Given the description of an element on the screen output the (x, y) to click on. 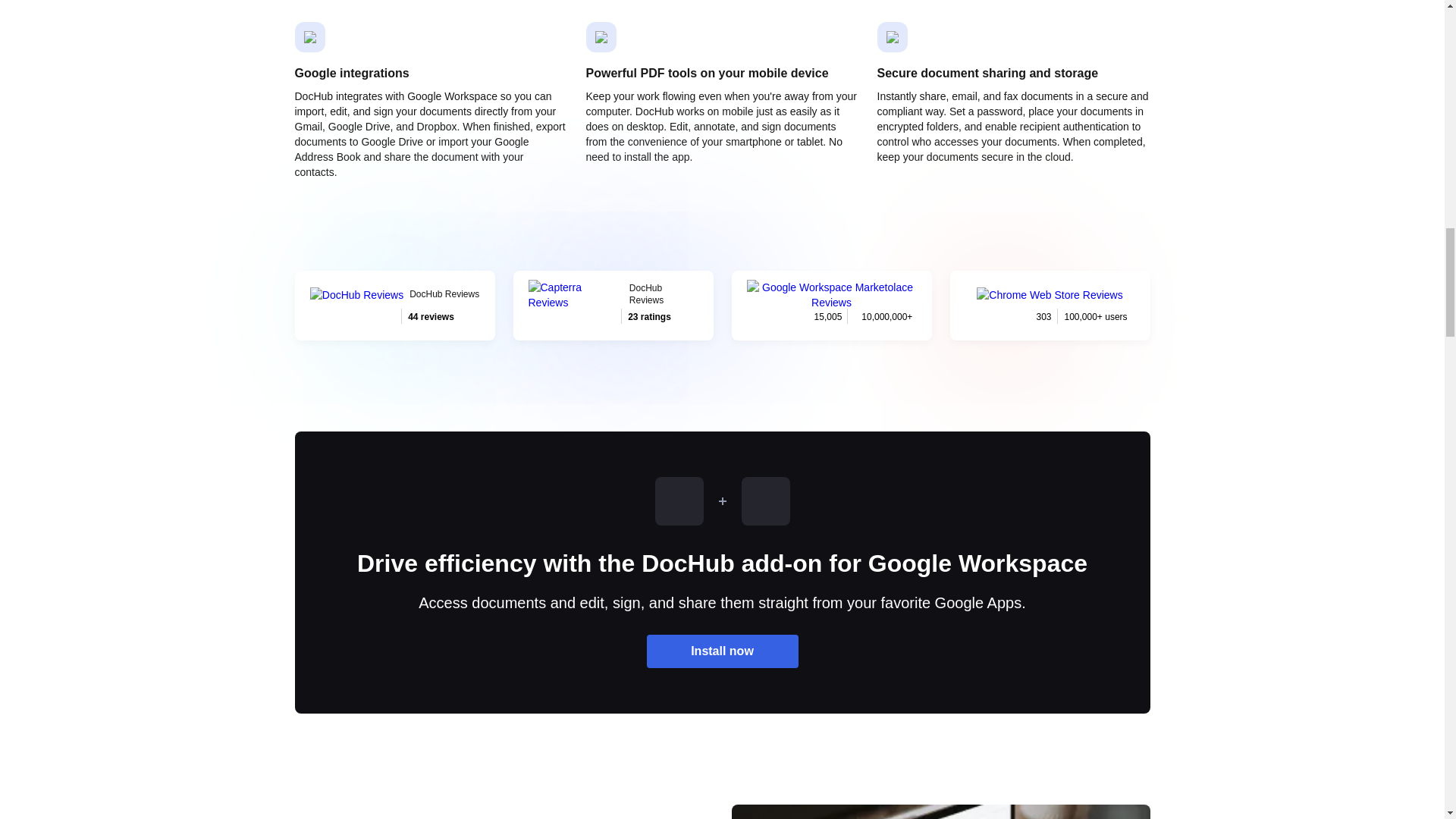
Install now (394, 305)
